Given the description of an element on the screen output the (x, y) to click on. 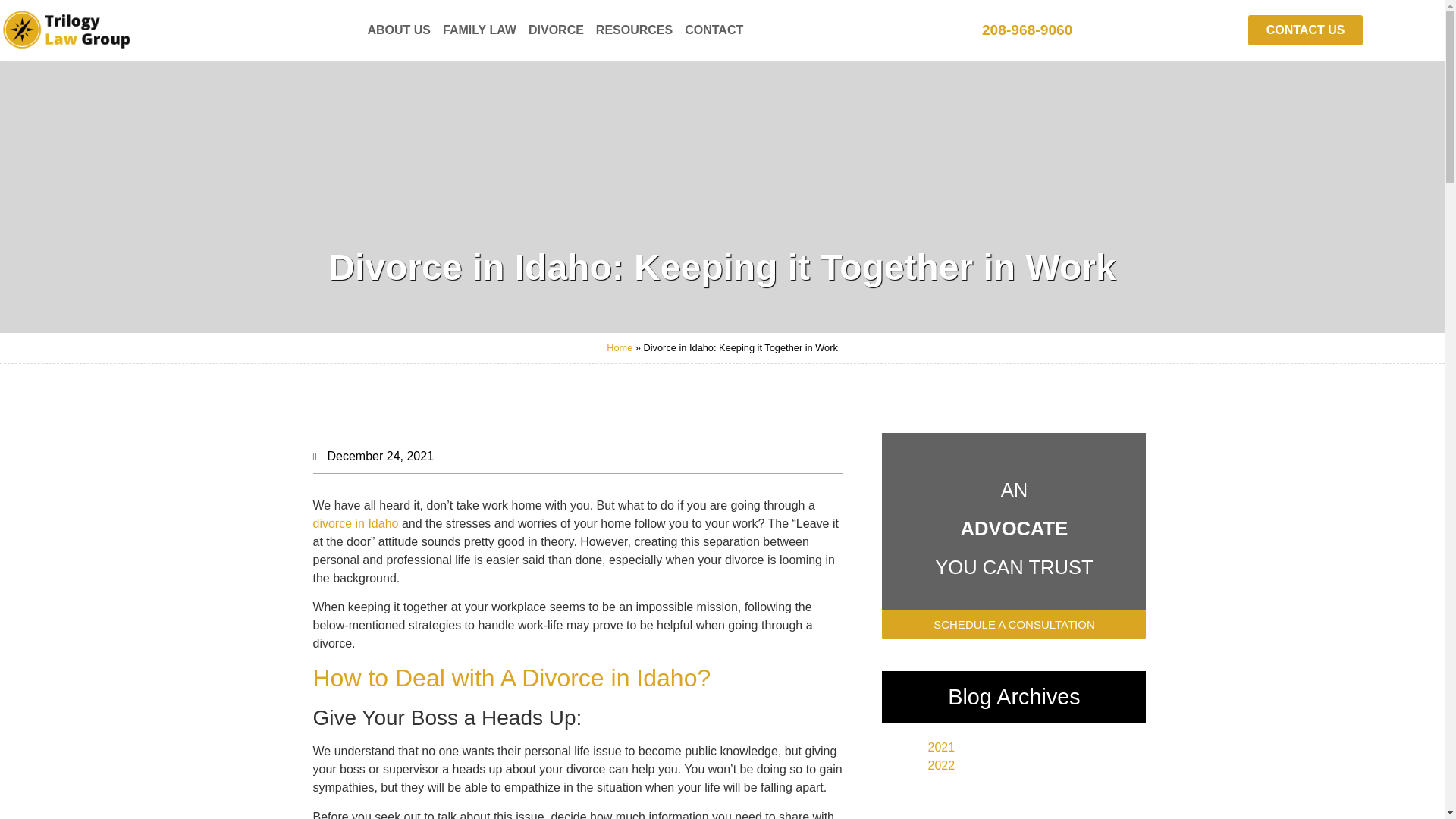
DIVORCE (555, 30)
CONTACT (713, 30)
RESOURCES (633, 30)
FAMILY LAW (479, 30)
ABOUT US (398, 30)
